Given the description of an element on the screen output the (x, y) to click on. 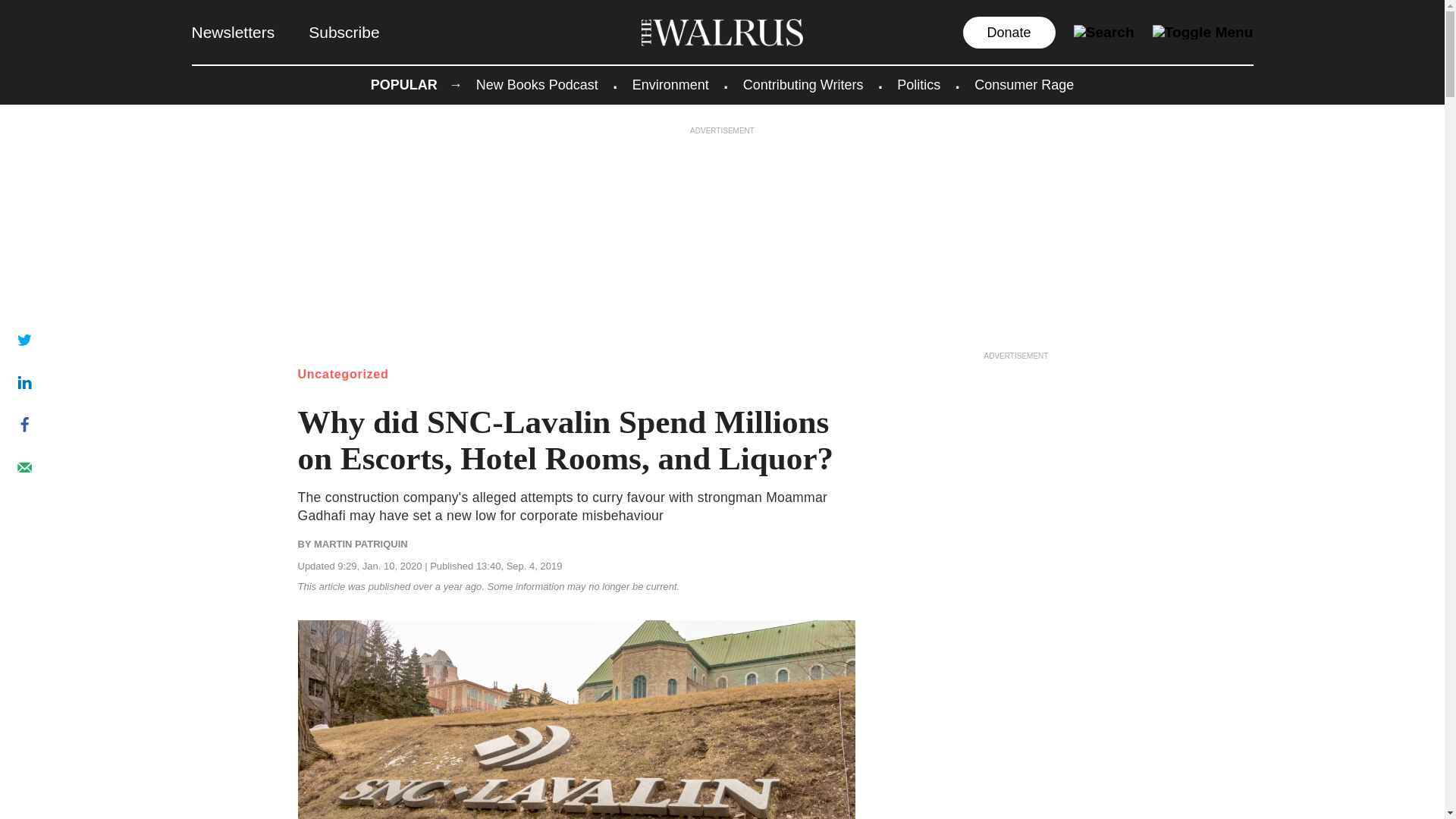
New Books Podcast (537, 85)
Newsletters (232, 31)
Donate (1008, 32)
Send over email (23, 467)
Posts by Martin Patriquin (360, 543)
3rd party ad content (1015, 456)
Environment (670, 85)
Share on LinkedIn (23, 381)
Share on Facebook (23, 424)
Politics (918, 85)
Subscribe (343, 31)
Contributing Writers (802, 85)
Share on Twitter (23, 339)
